Given the description of an element on the screen output the (x, y) to click on. 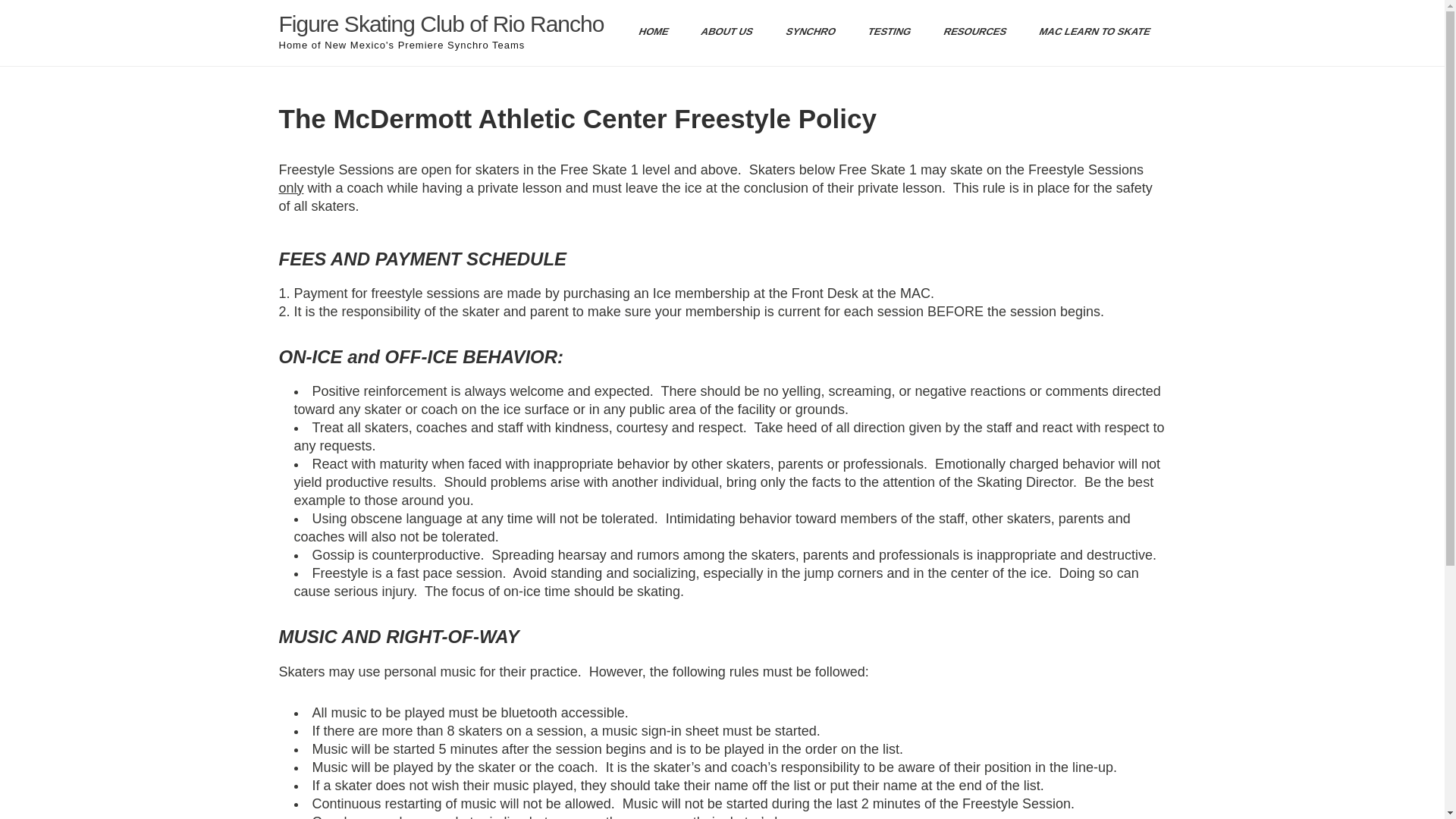
MAC LEARN TO SKATE (1087, 31)
HOME (647, 31)
ABOUT US (720, 31)
Figure Skating Club of Rio Rancho (441, 23)
SYNCHRO (804, 31)
TESTING (883, 31)
RESOURCES (968, 31)
